Given the description of an element on the screen output the (x, y) to click on. 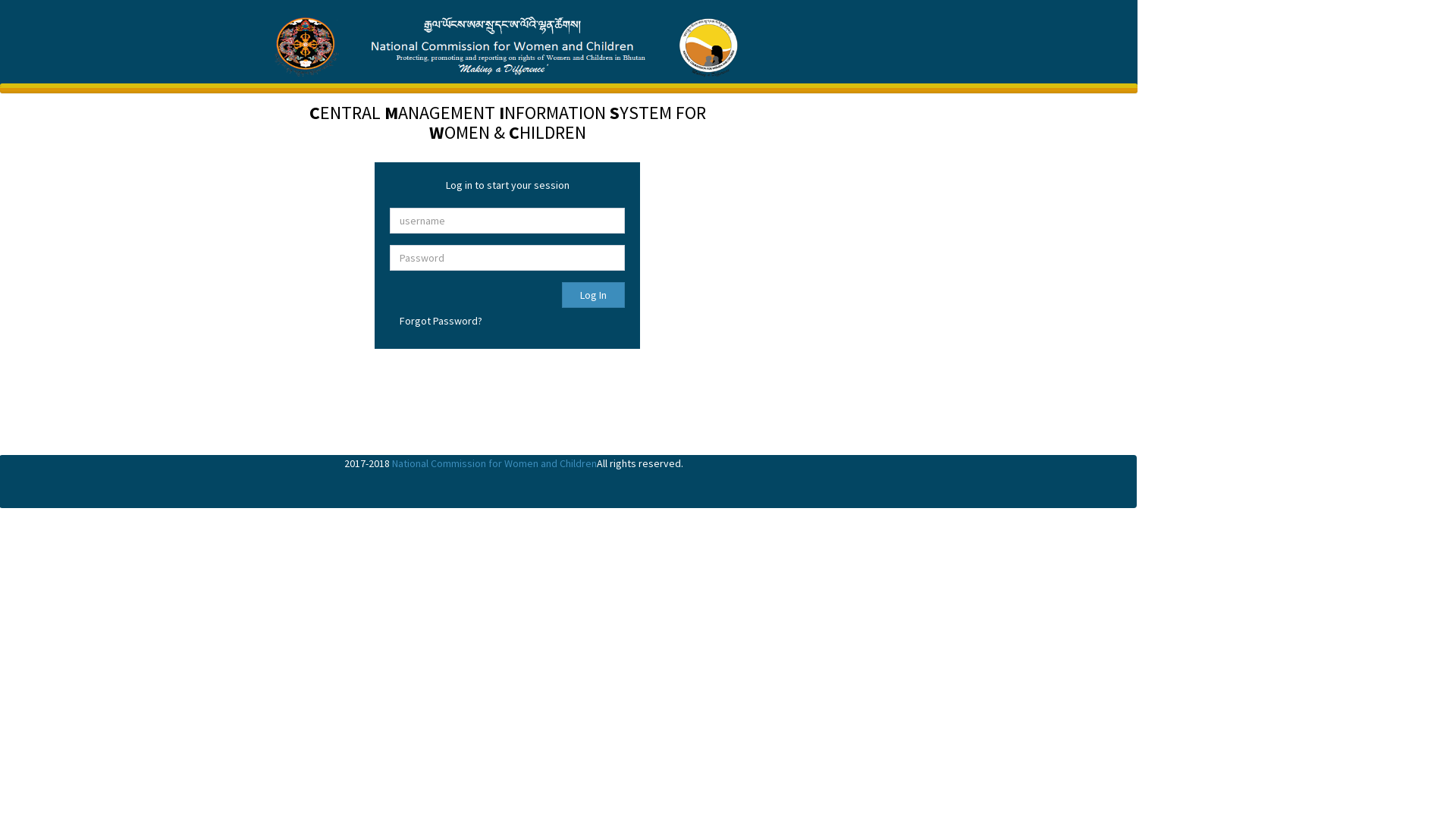
Forgot Password? Element type: text (440, 320)
National Commission for Women and Children Element type: text (494, 463)
Log In Element type: text (592, 294)
